Given the description of an element on the screen output the (x, y) to click on. 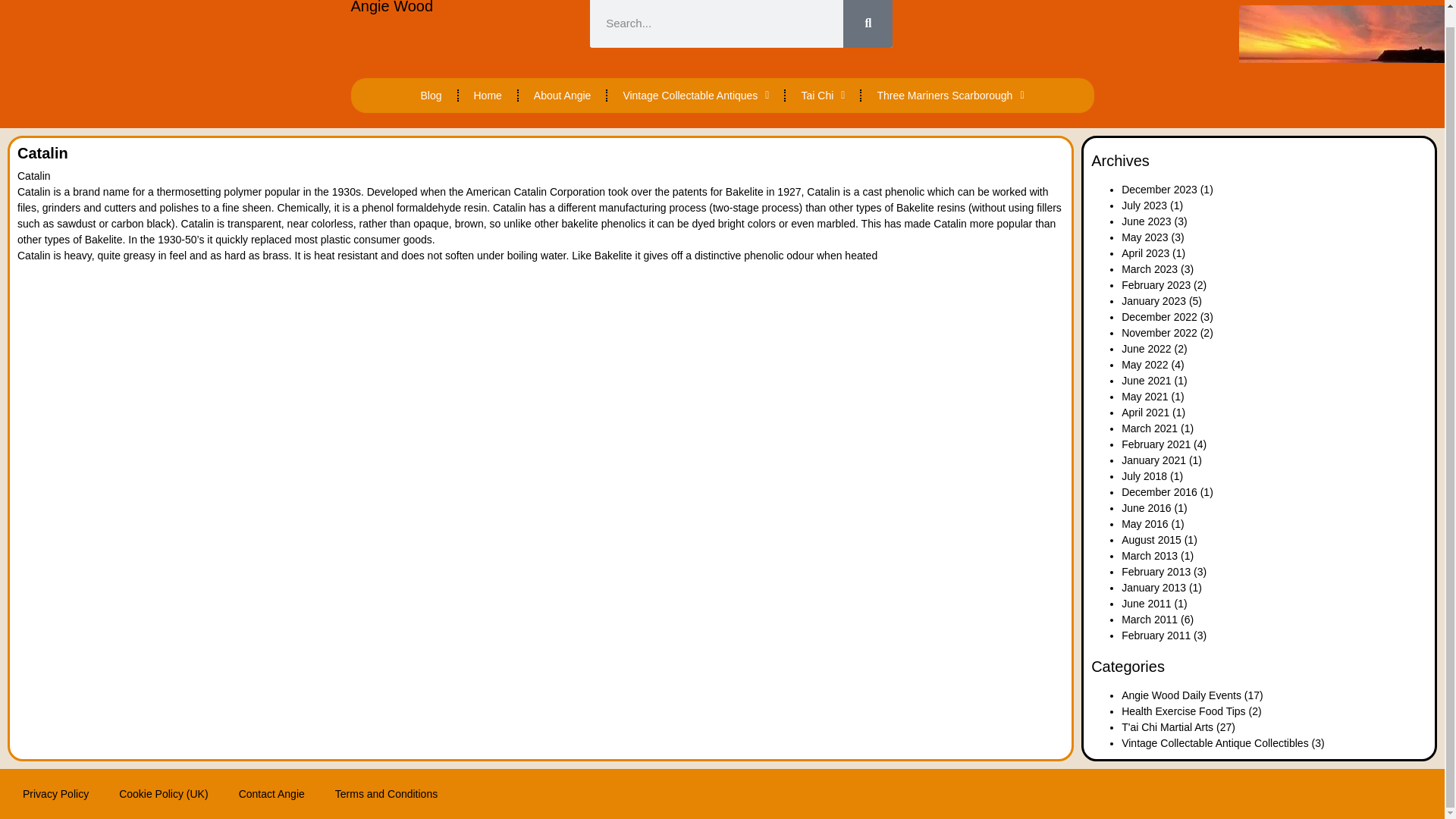
Tai Chi Chuan Sou Fa Fat (823, 95)
angie rose wood (487, 95)
June 2023 (1145, 221)
Blog (430, 95)
April 2023 (1145, 253)
Home (487, 95)
Three Mariners Scarborough (950, 95)
Vintage Collectable Antiques (695, 95)
About Angie (562, 95)
Tai Chi (823, 95)
